Given the description of an element on the screen output the (x, y) to click on. 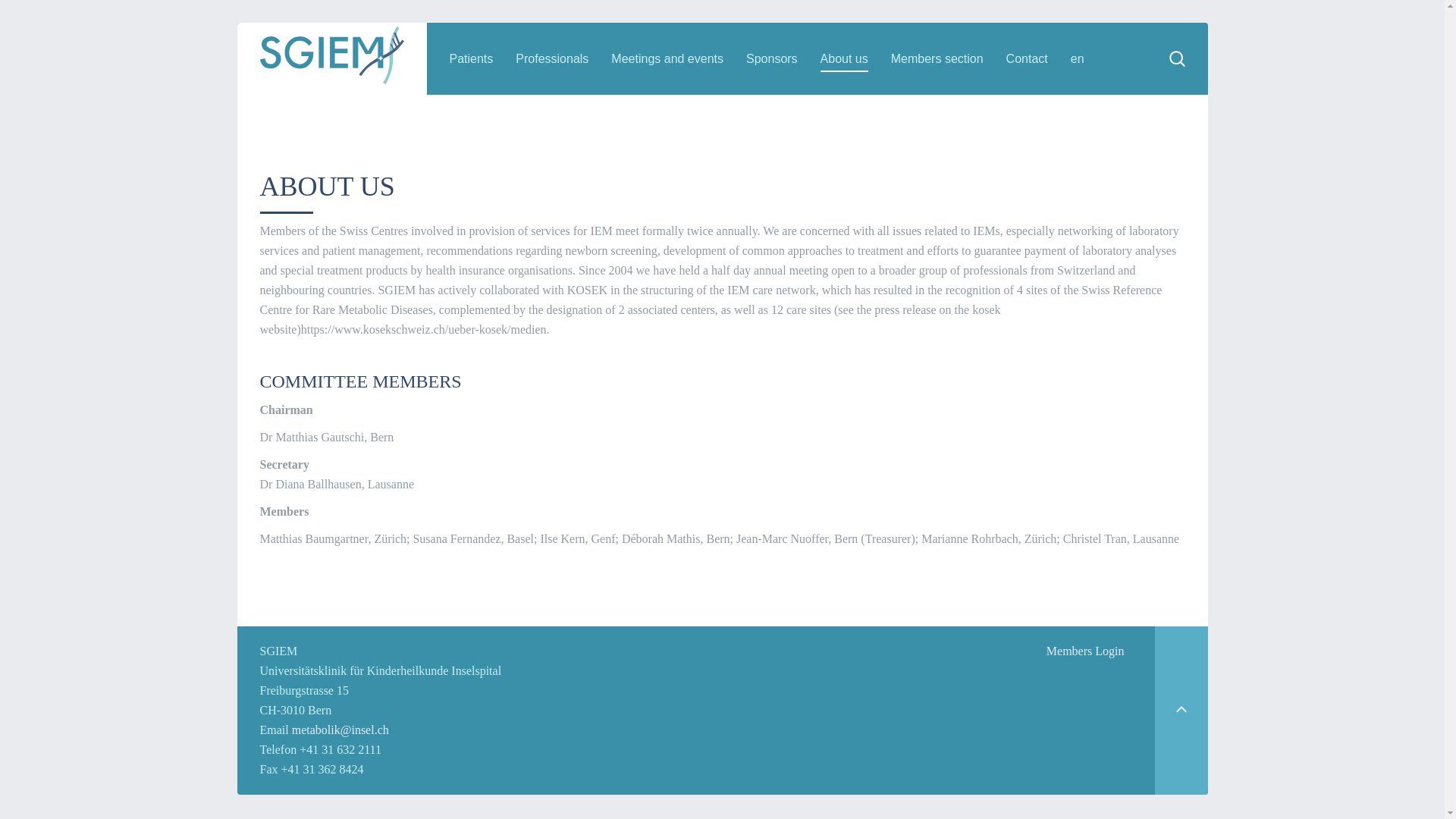
Professionals (551, 58)
Members section (937, 58)
Members Login (1085, 650)
Meetings and events (667, 58)
